Given the description of an element on the screen output the (x, y) to click on. 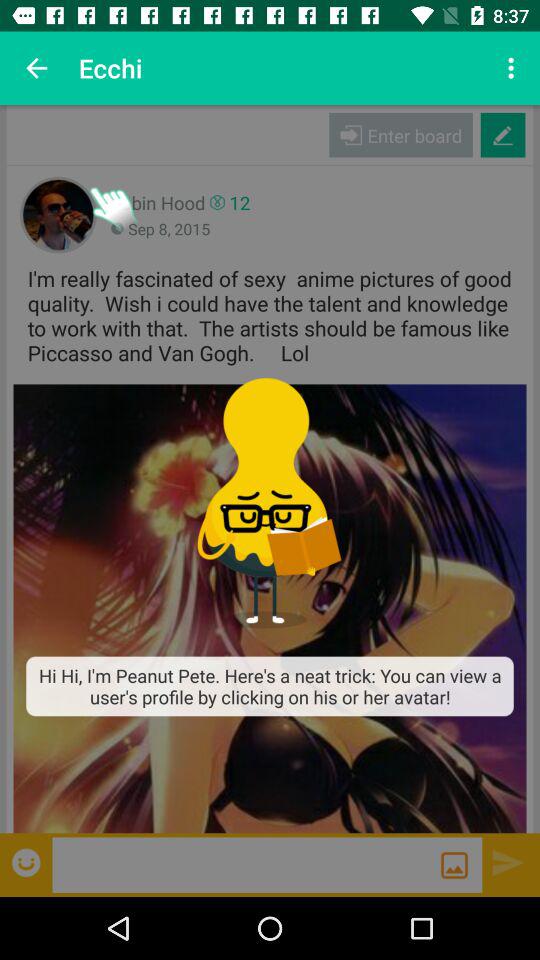
open picture full screen (269, 608)
